Given the description of an element on the screen output the (x, y) to click on. 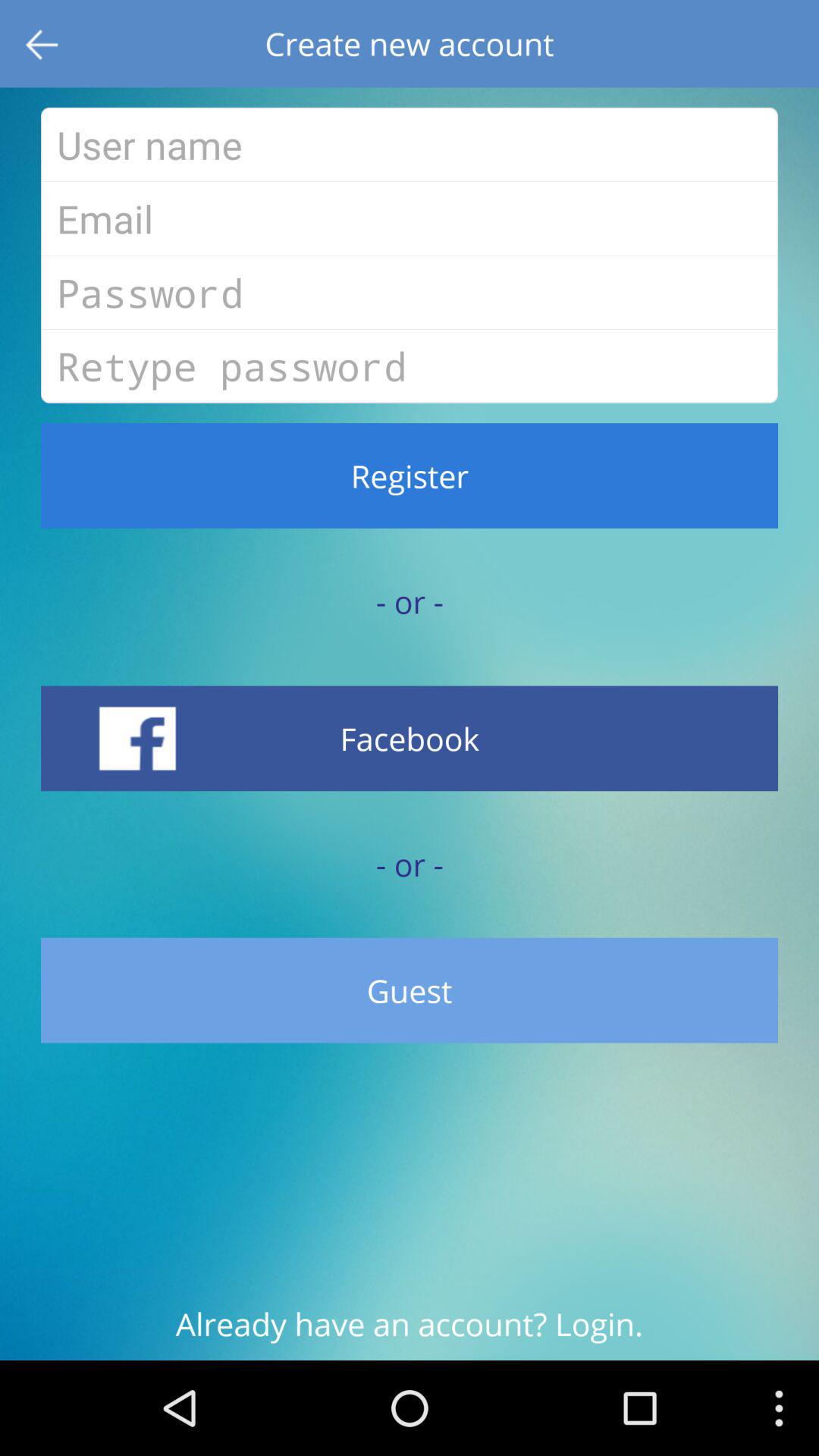
tap item below - or - icon (409, 990)
